Given the description of an element on the screen output the (x, y) to click on. 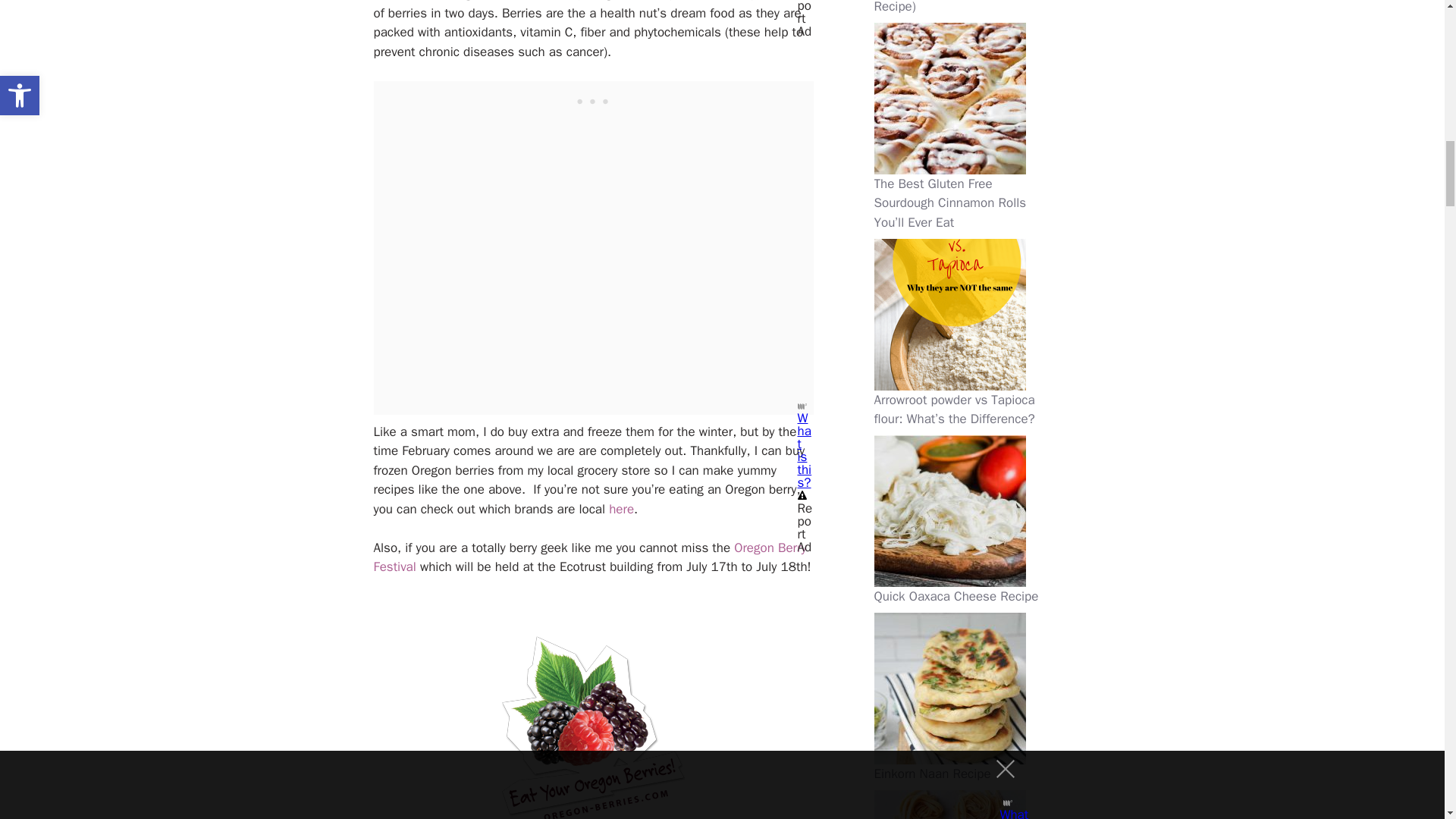
3rd party ad content (592, 99)
Paleo Raspberry Cobbler Kelly Bejelly (593, 726)
